Given the description of an element on the screen output the (x, y) to click on. 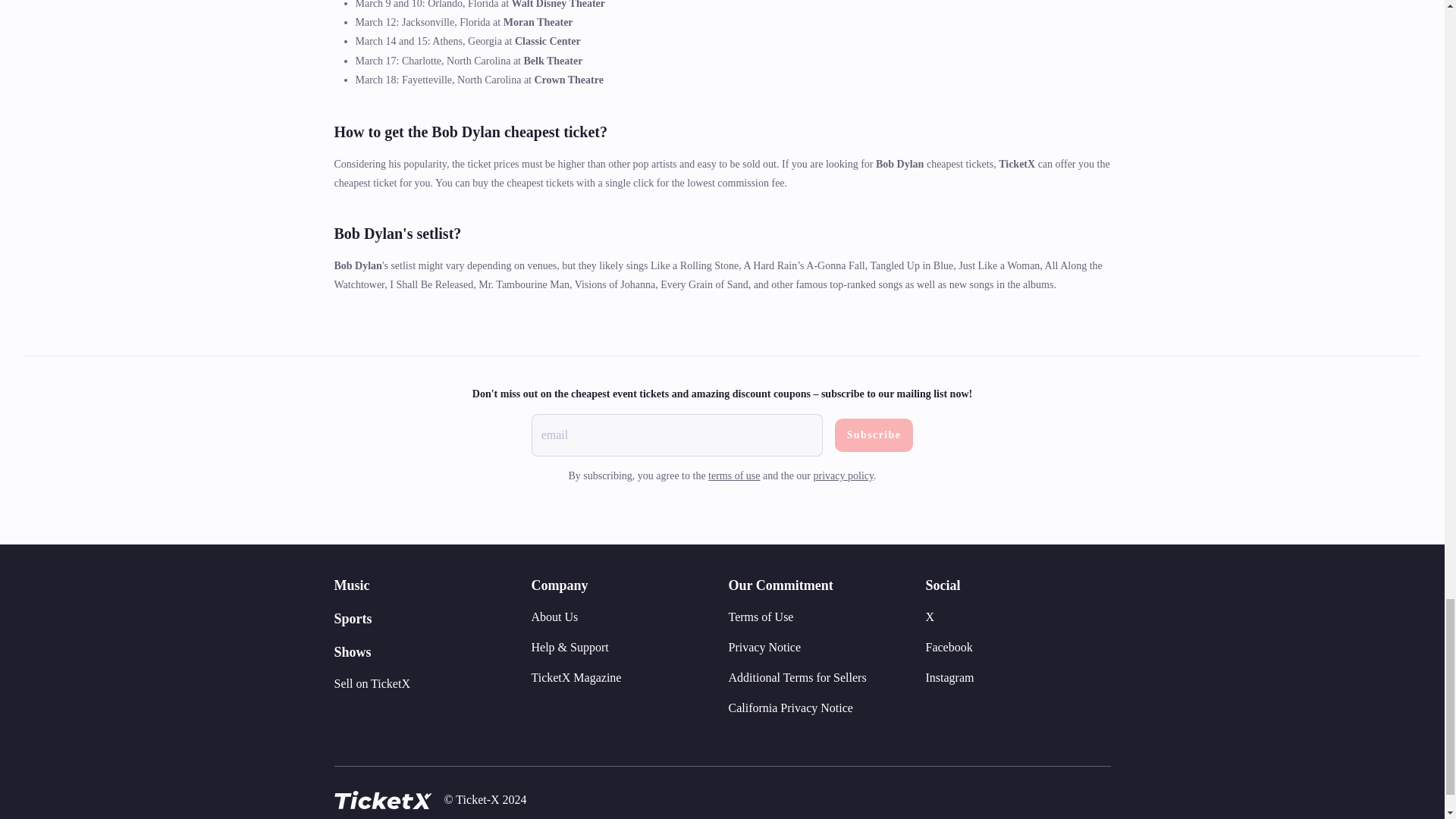
Music (351, 585)
Sports (352, 618)
Sell on TicketX (371, 683)
Subscribe (874, 435)
Shows (352, 652)
terms of use (733, 475)
About Us (554, 617)
privacy policy (844, 475)
